Given the description of an element on the screen output the (x, y) to click on. 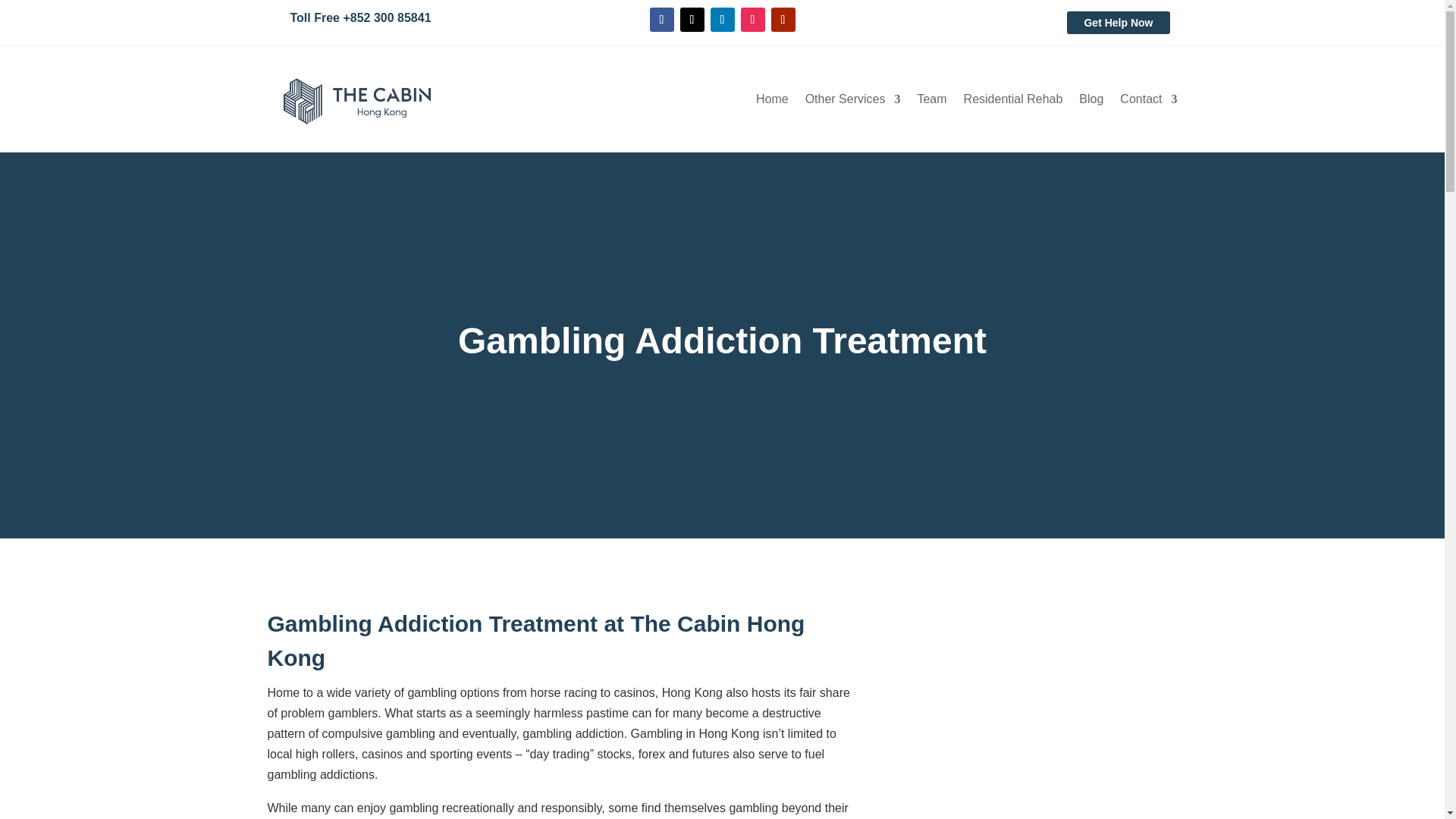
Residential Rehab (1012, 102)
Follow on Youtube (782, 19)
Follow on LinkedIn (721, 19)
Home (772, 102)
Other Services (853, 102)
Team (931, 102)
Follow on Facebook (660, 19)
Get Help Now (1118, 22)
Follow on X (691, 19)
Follow on Instagram (751, 19)
